Given the description of an element on the screen output the (x, y) to click on. 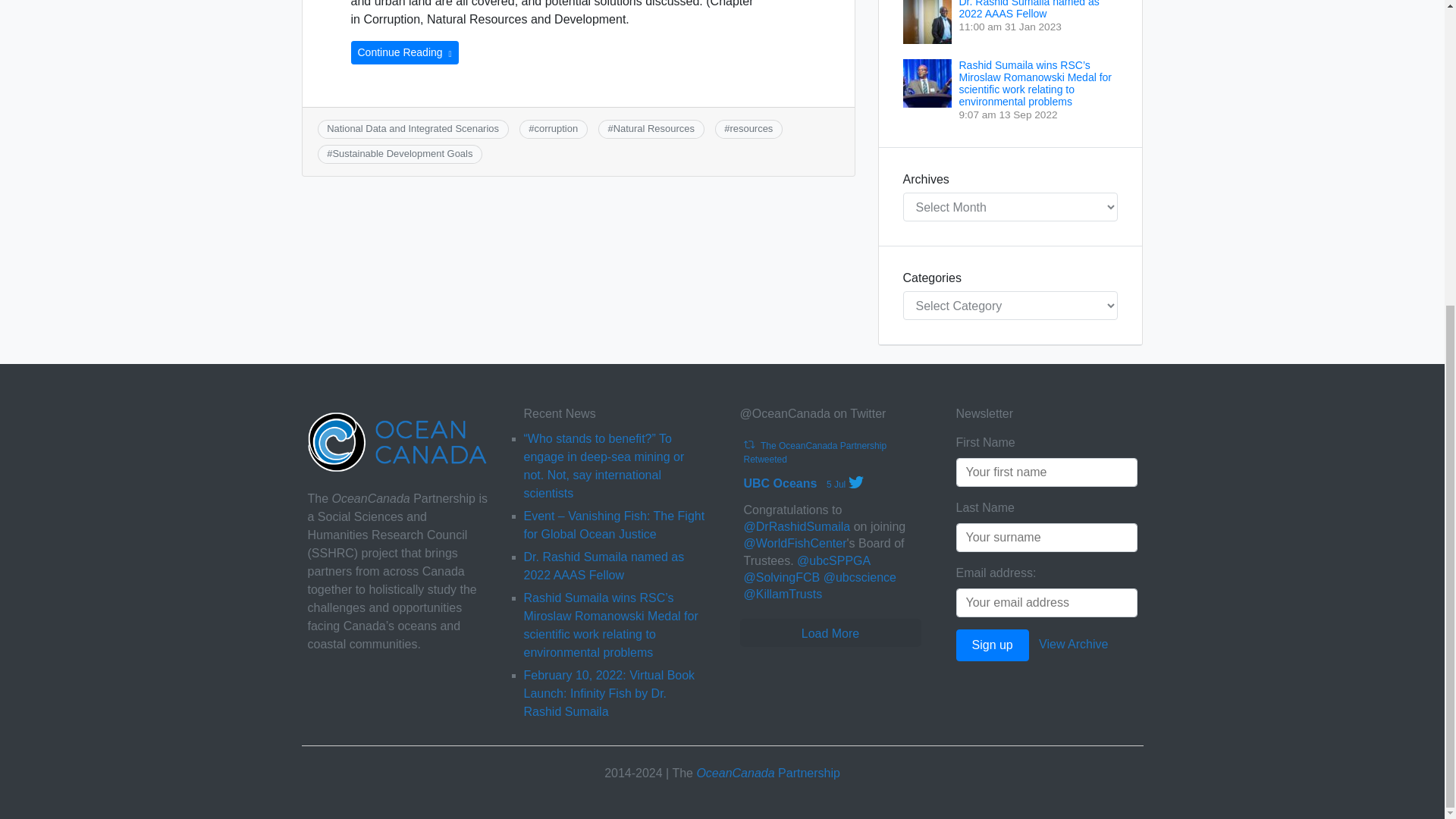
Sign up (991, 644)
